Given the description of an element on the screen output the (x, y) to click on. 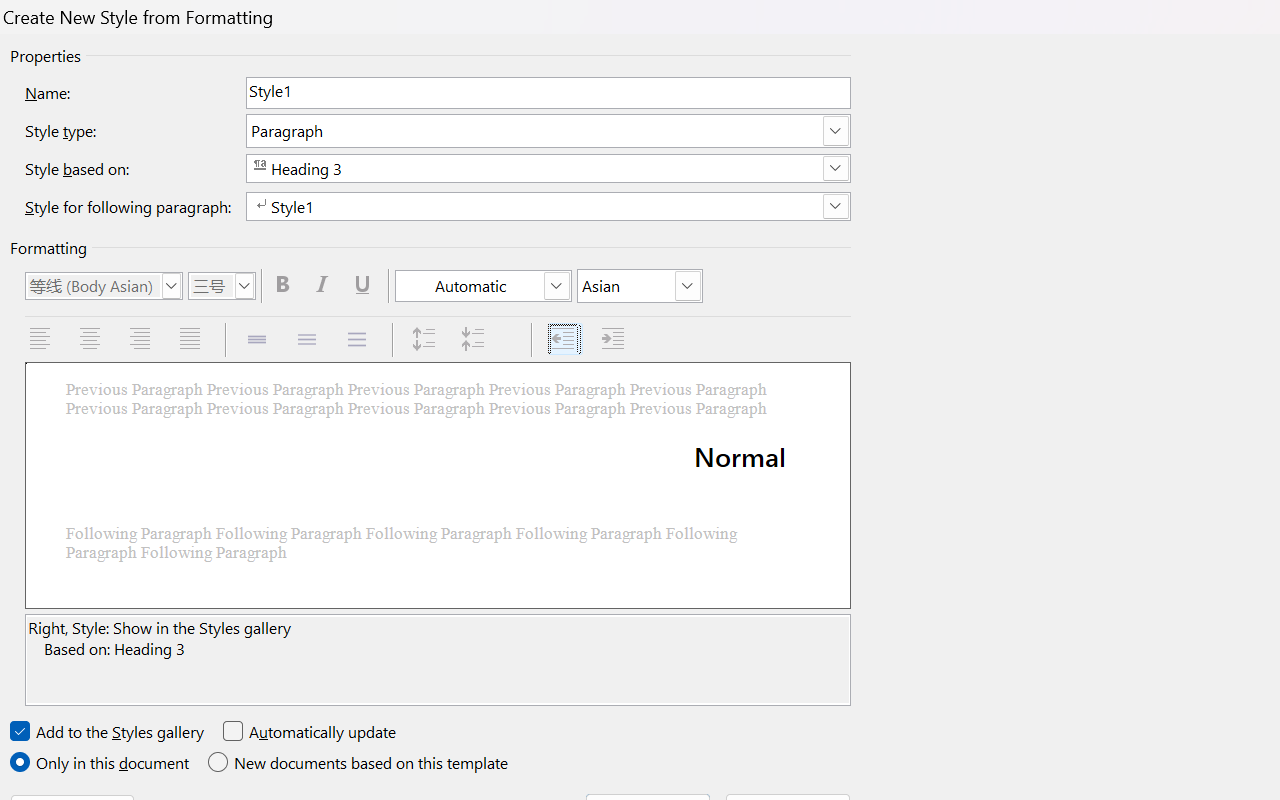
Style properties: (438, 659)
MSO Generic Control Container (104, 286)
Style type: (548, 130)
Double Spacing (359, 339)
Increase Paragraph Spacing (426, 339)
Name: (548, 92)
Only in this document (101, 763)
New documents based on this template (359, 763)
Font Color (Automatic) (483, 286)
Single Spacing (258, 339)
Increase Indent (615, 339)
Decrease Indent (564, 339)
Decrease Paragraph Spacing (476, 339)
